Given the description of an element on the screen output the (x, y) to click on. 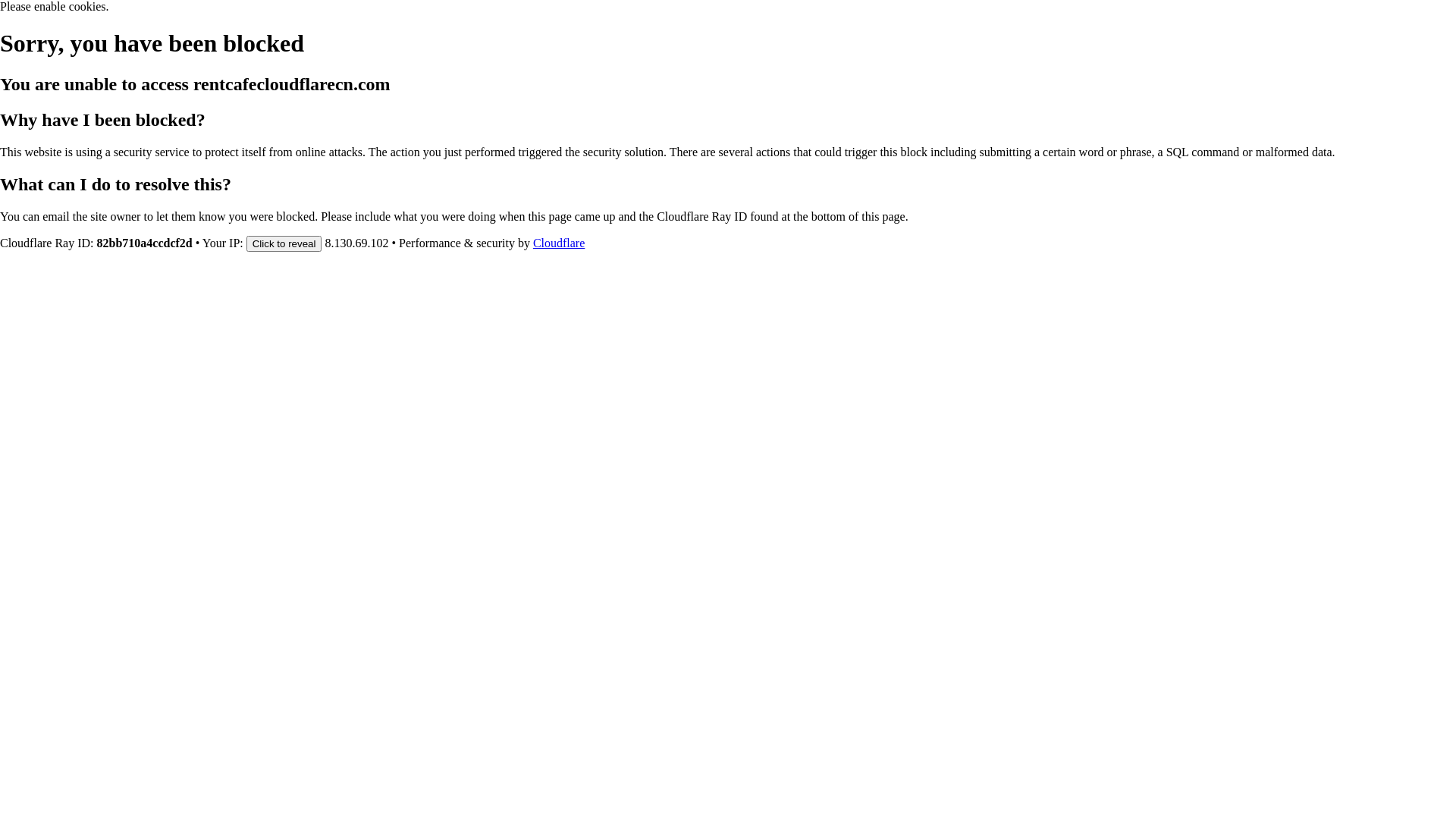
Click to reveal Element type: text (284, 243)
Cloudflare Element type: text (558, 242)
